Given the description of an element on the screen output the (x, y) to click on. 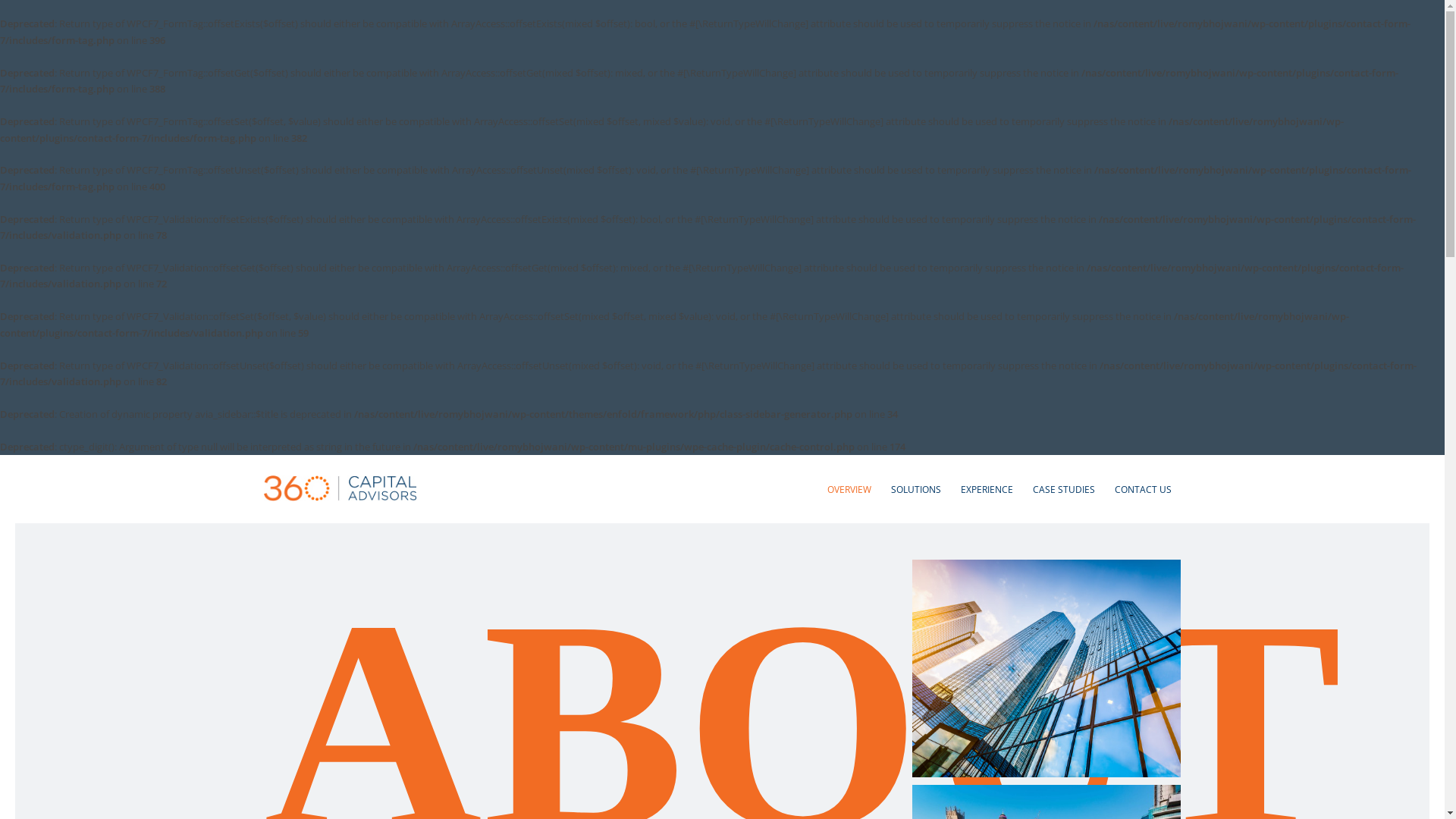
OVERVIEW Element type: text (849, 489)
CONTACT US Element type: text (1142, 489)
EXPERIENCE Element type: text (986, 489)
CASE STUDIES Element type: text (1063, 489)
shutterstock_236012332 Element type: hover (1046, 668)
SOLUTIONS Element type: text (915, 489)
logo Element type: hover (339, 478)
